Given the description of an element on the screen output the (x, y) to click on. 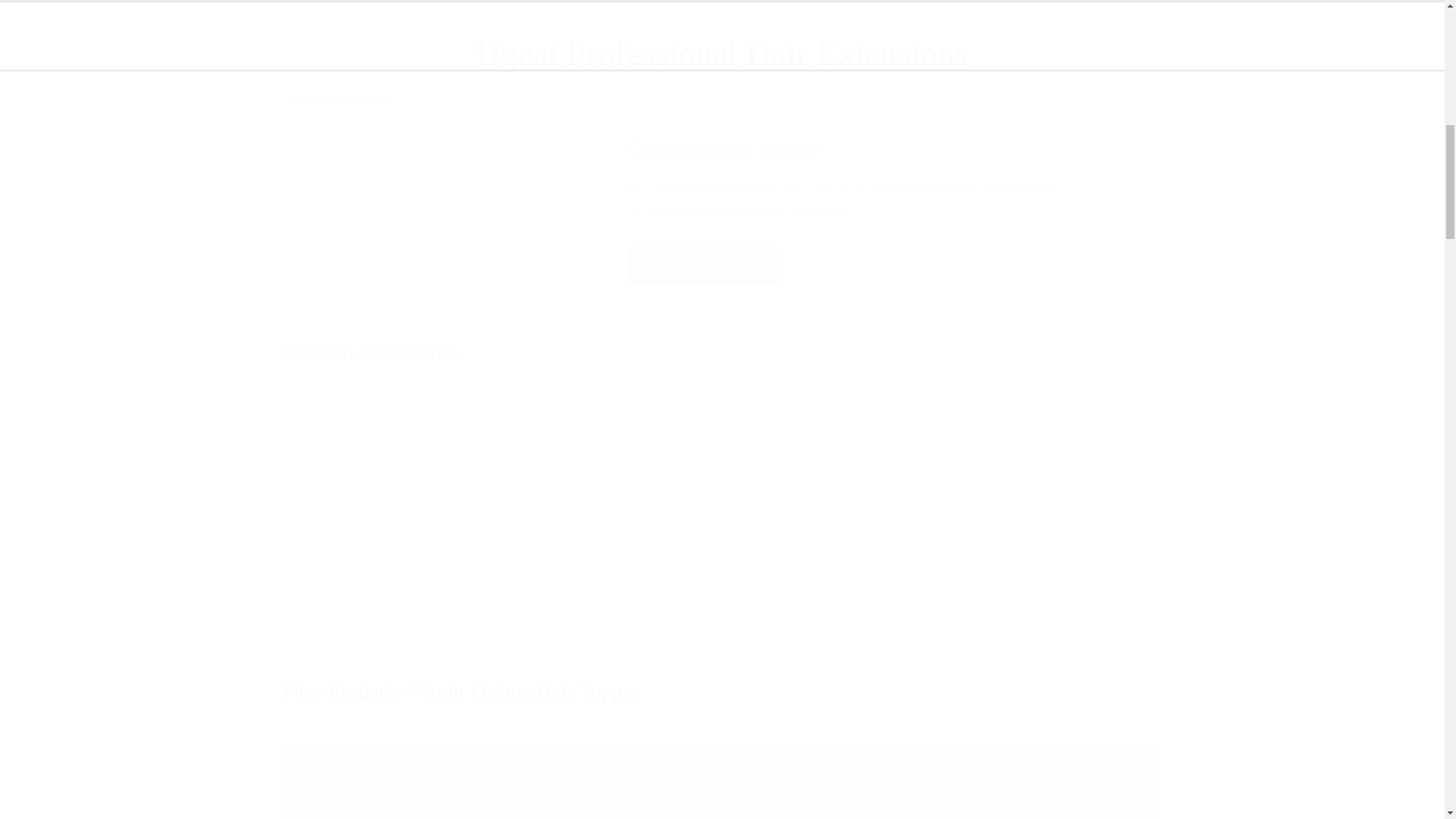
Hot Sale Collections (371, 353)
New Products-Virgin Fishnet Hair Topper (721, 691)
Ugeat Professional Hair Extensions (722, 54)
